Given the description of an element on the screen output the (x, y) to click on. 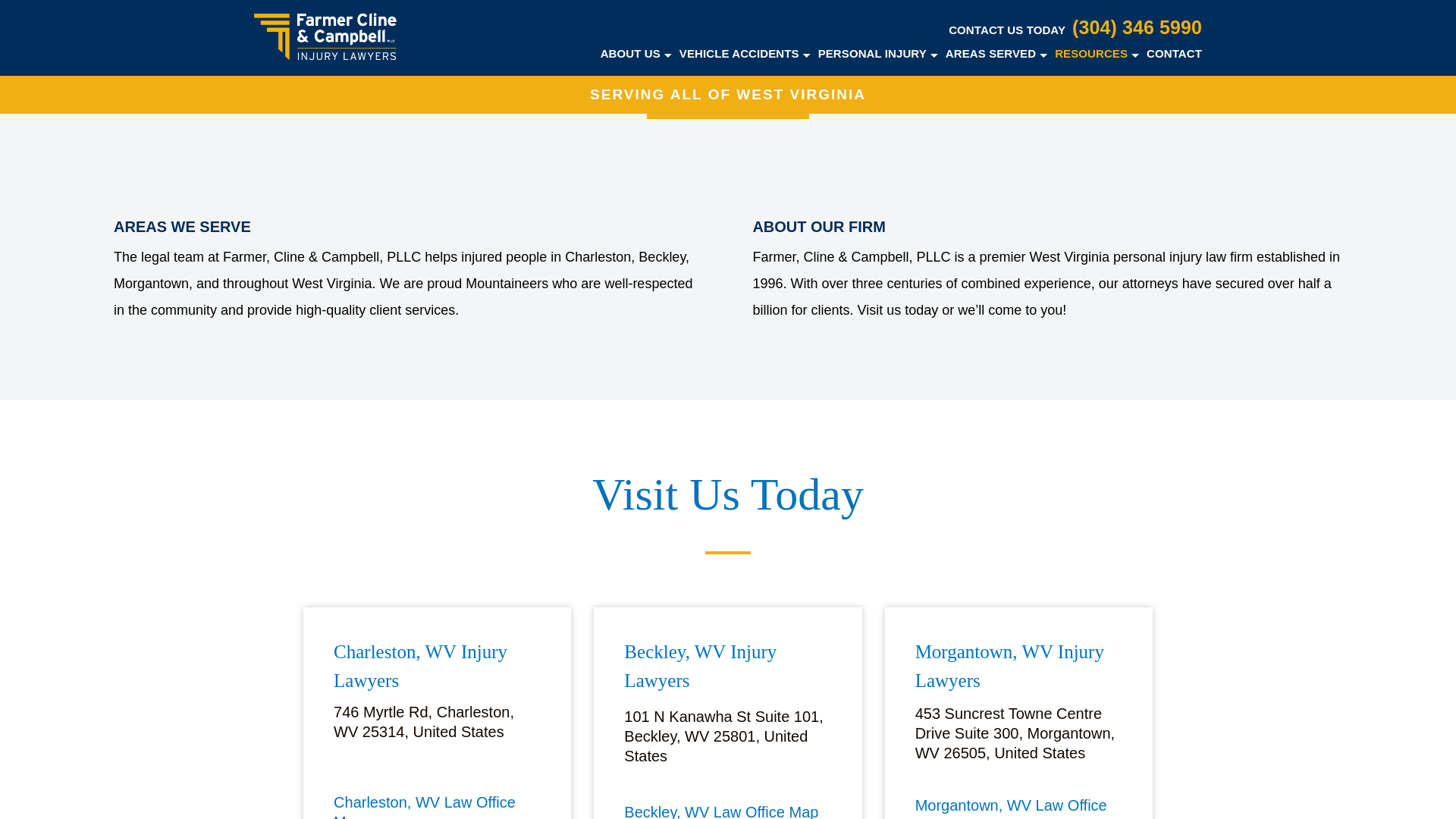
1 (259, 43)
Submit Case (727, 92)
